Given the description of an element on the screen output the (x, y) to click on. 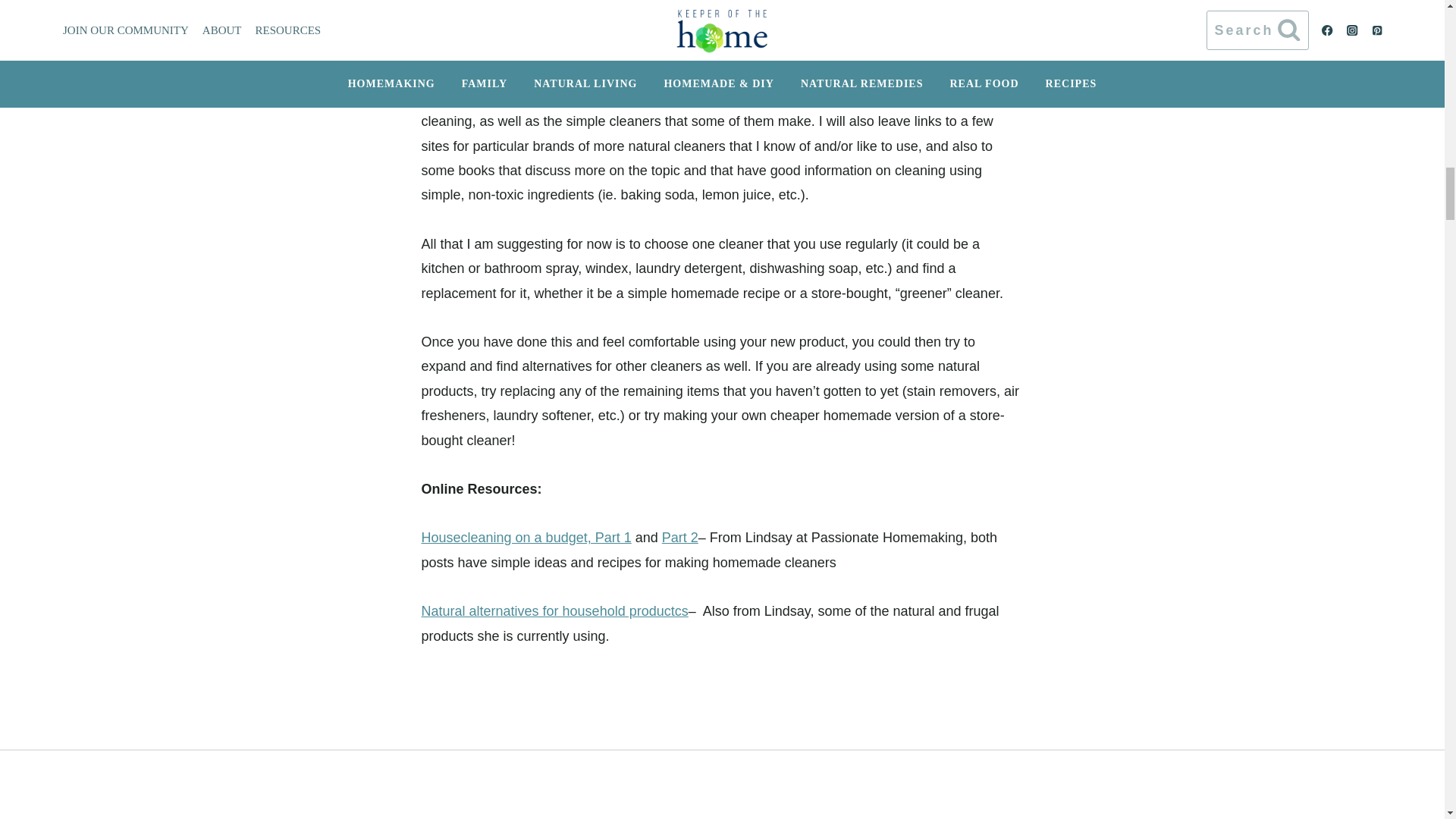
Housecleaning on a budget, Part 1 (526, 537)
Natural alternatives for household productcs (555, 611)
Part 2 (680, 537)
